Given the description of an element on the screen output the (x, y) to click on. 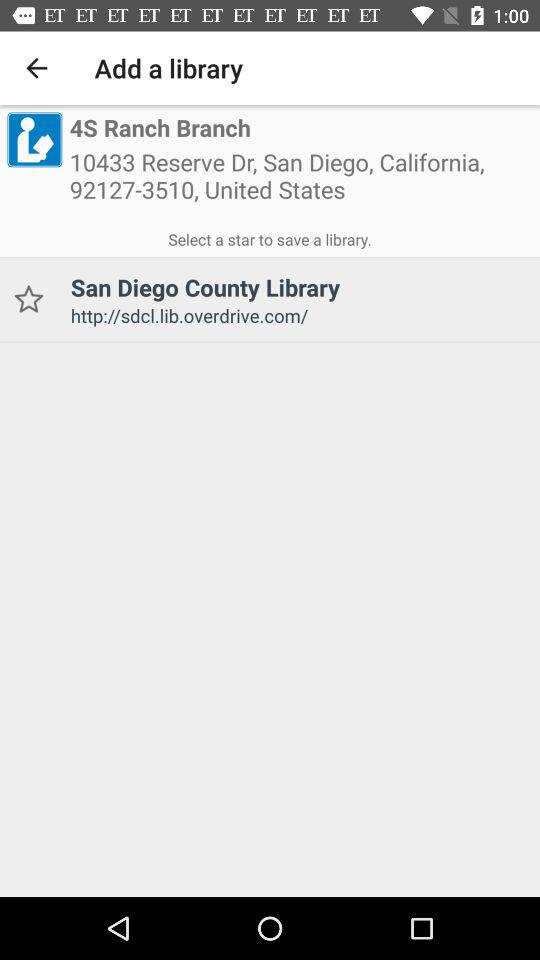
scroll until 4s ranch branch icon (159, 128)
